Given the description of an element on the screen output the (x, y) to click on. 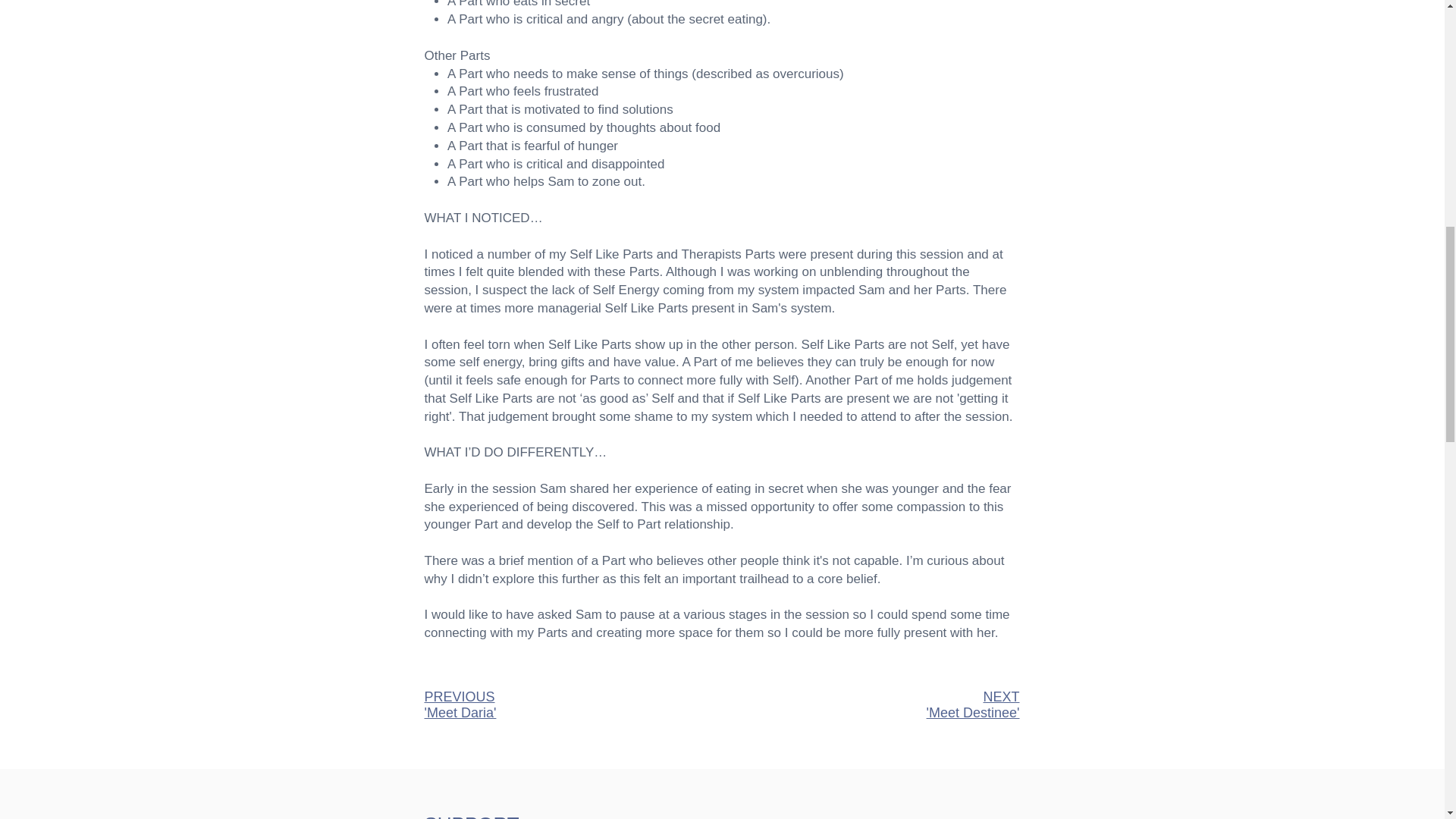
NEXT (1000, 696)
'Meet Destinee' (973, 712)
PREVIOUS (460, 696)
'Meet Daria' (460, 712)
